Given the description of an element on the screen output the (x, y) to click on. 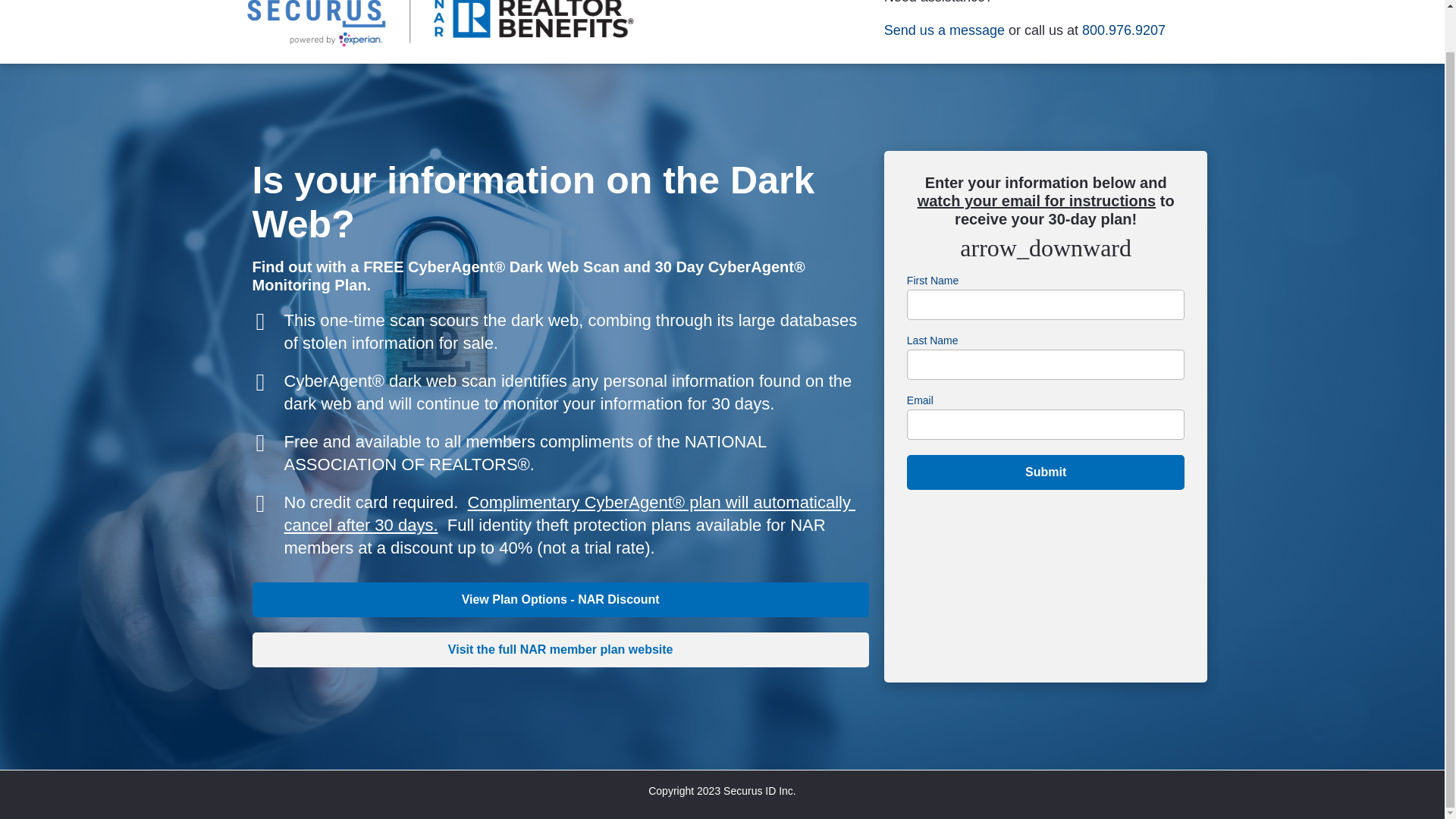
Link: tel:800-976-9207 (1123, 29)
800.976.9207 (1123, 29)
View Plan Options - NAR Discount (559, 599)
Visit the full NAR member plan website (559, 649)
Submit (1046, 472)
Send us a message (943, 29)
